Given the description of an element on the screen output the (x, y) to click on. 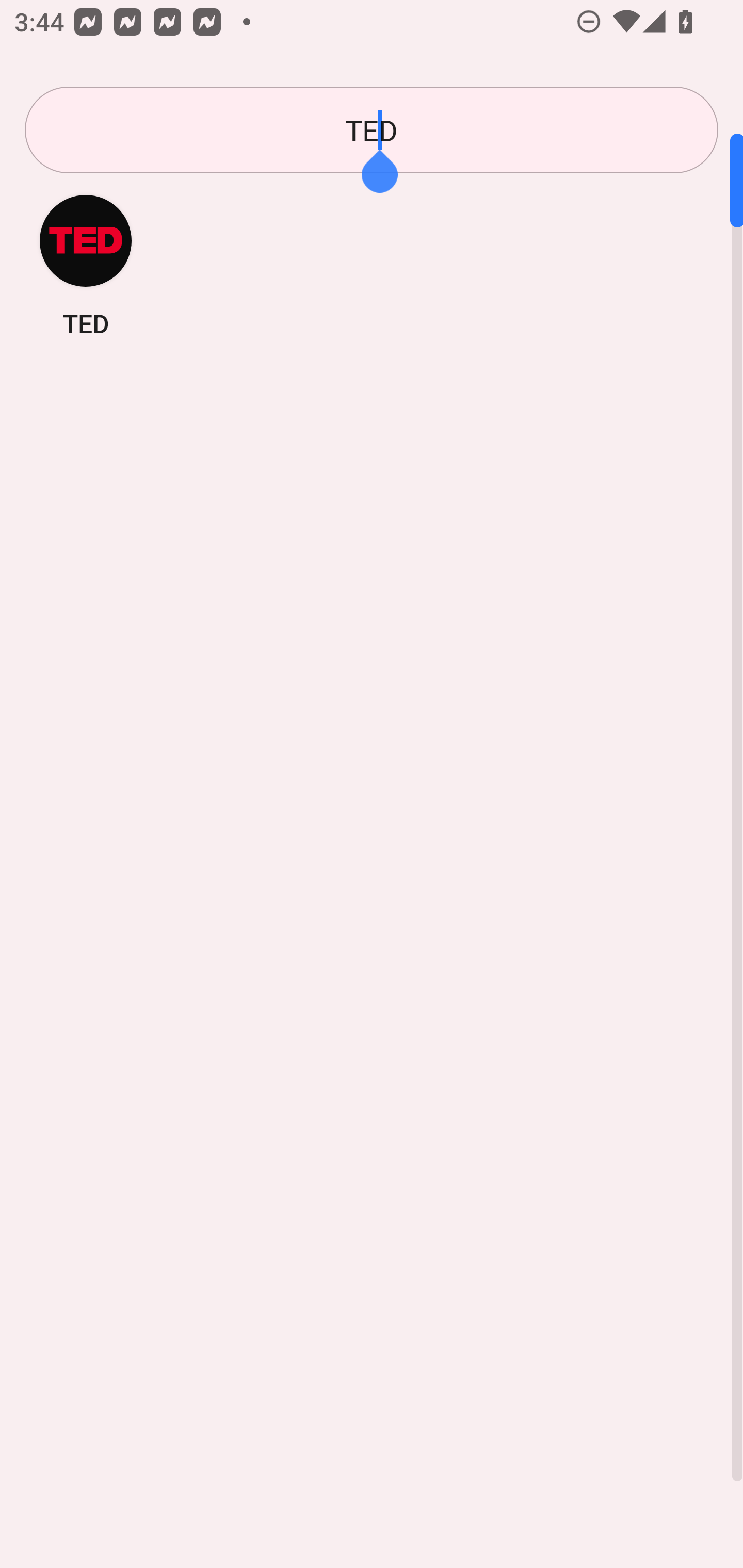
TED (371, 130)
TED (85, 264)
